Given the description of an element on the screen output the (x, y) to click on. 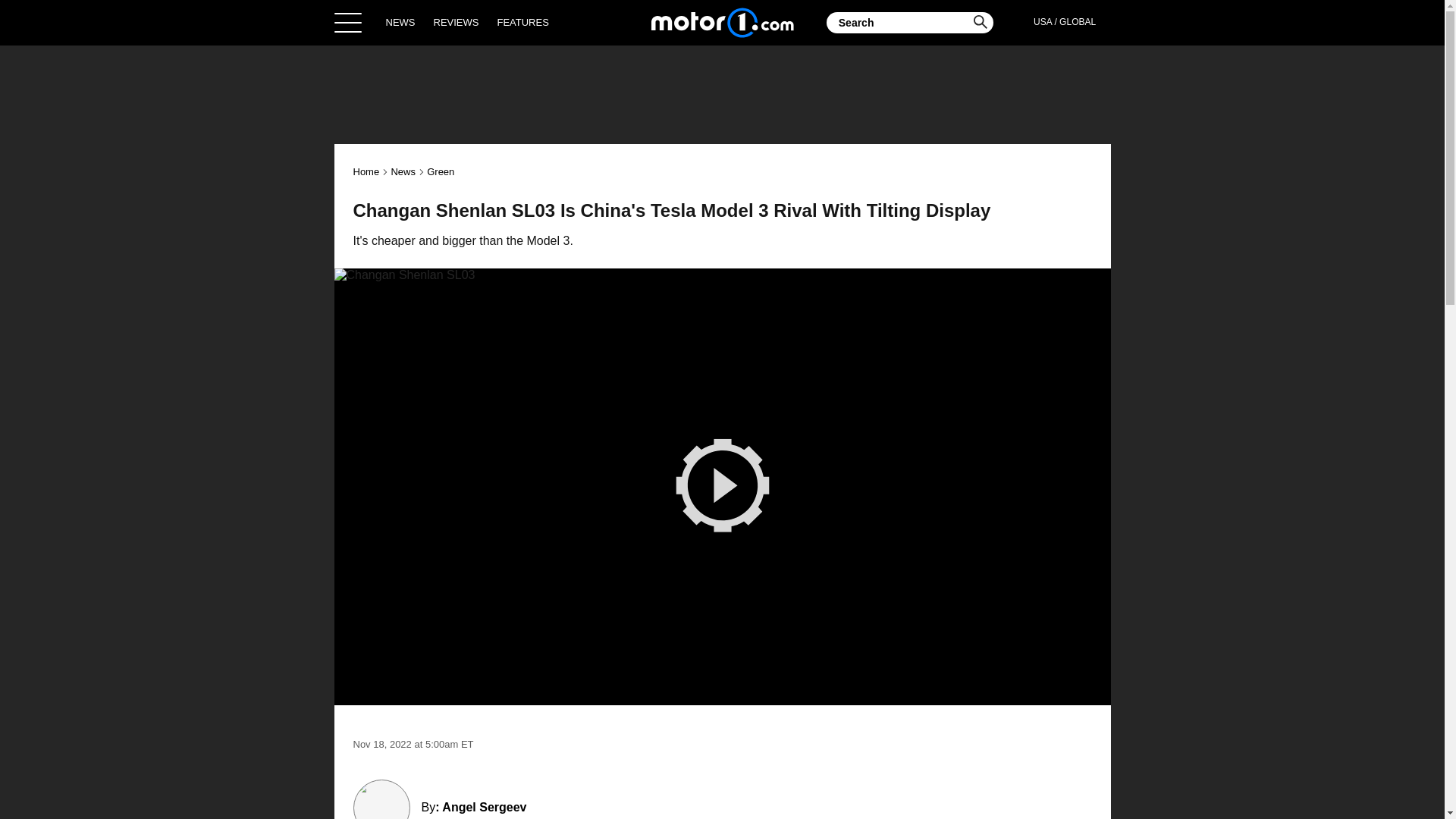
Angel Sergeev (483, 807)
Green (440, 171)
News (402, 171)
Home (721, 22)
FEATURES (522, 22)
REVIEWS (456, 22)
NEWS (399, 22)
Home (366, 171)
